Given the description of an element on the screen output the (x, y) to click on. 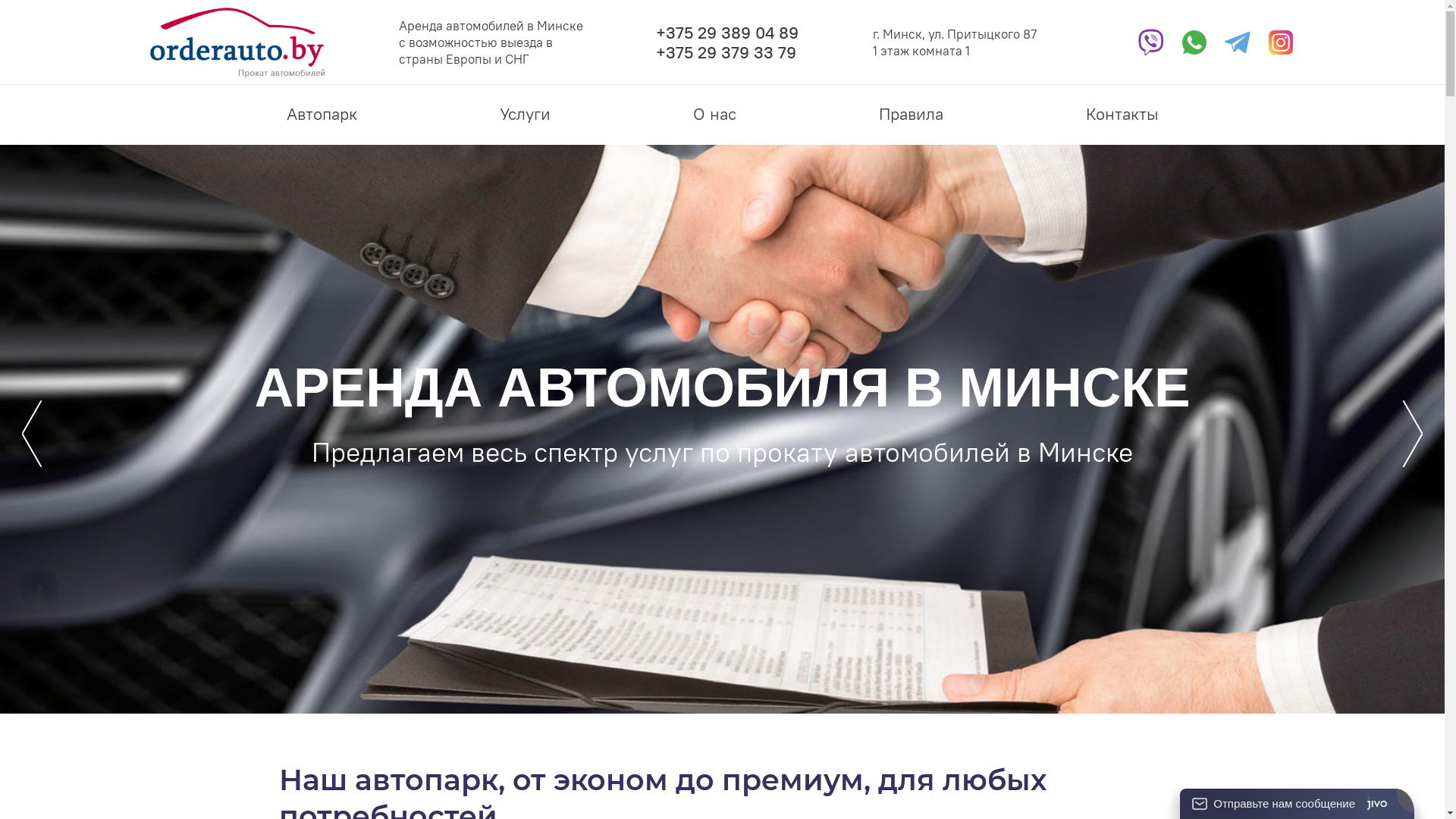
+375 29 379 33 79 Element type: text (725, 51)
+375 29 389 04 89 Element type: text (726, 32)
next Element type: text (1412, 432)
prev Element type: text (31, 432)
